Given the description of an element on the screen output the (x, y) to click on. 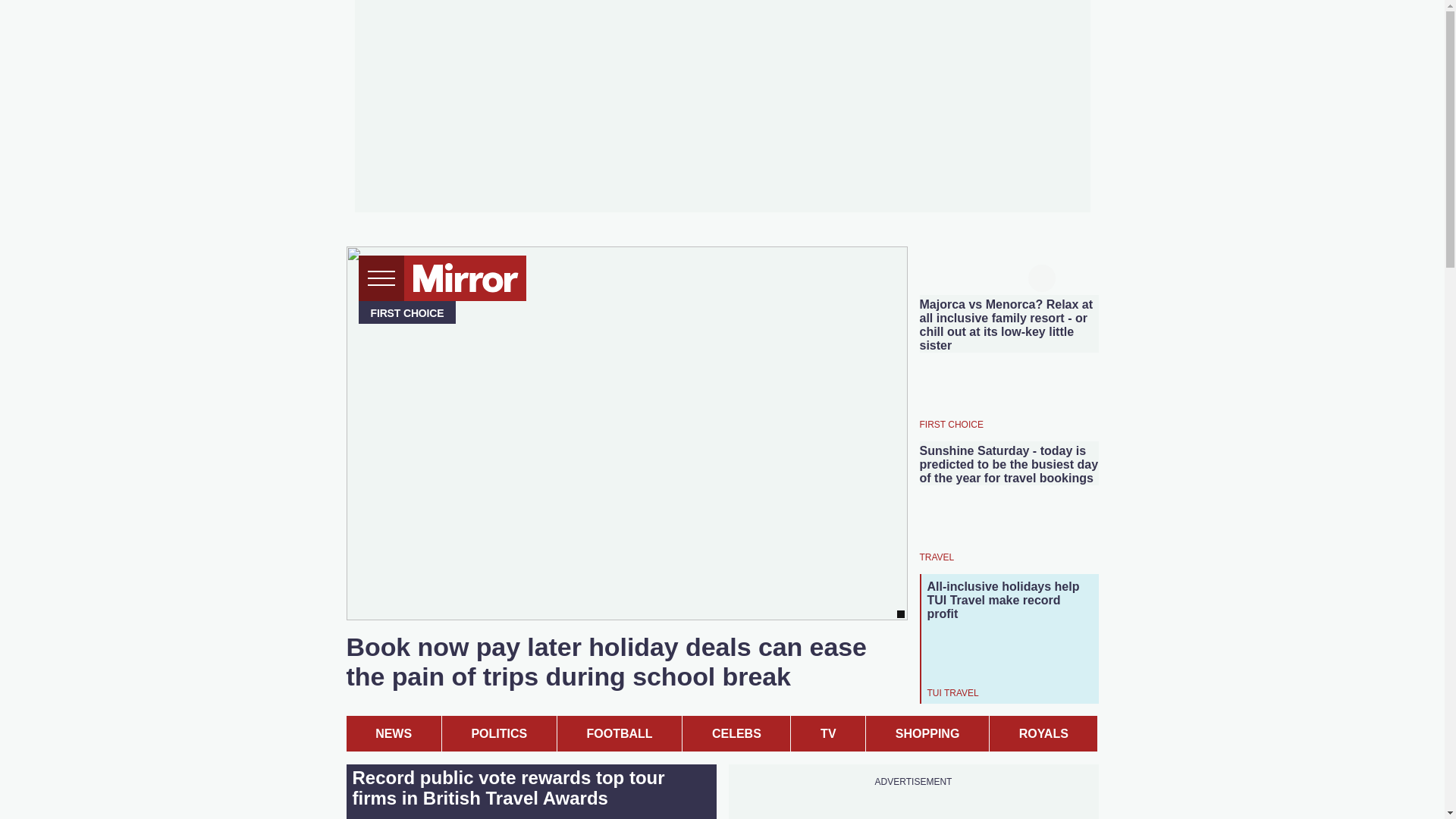
All-inclusive holidays help TUI Travel make record profit (1009, 599)
TUI TRAVEL (952, 692)
TV (827, 733)
twitter (926, 276)
NEWS (393, 733)
FIRST CHOICE (950, 424)
tiktok (955, 276)
